Given the description of an element on the screen output the (x, y) to click on. 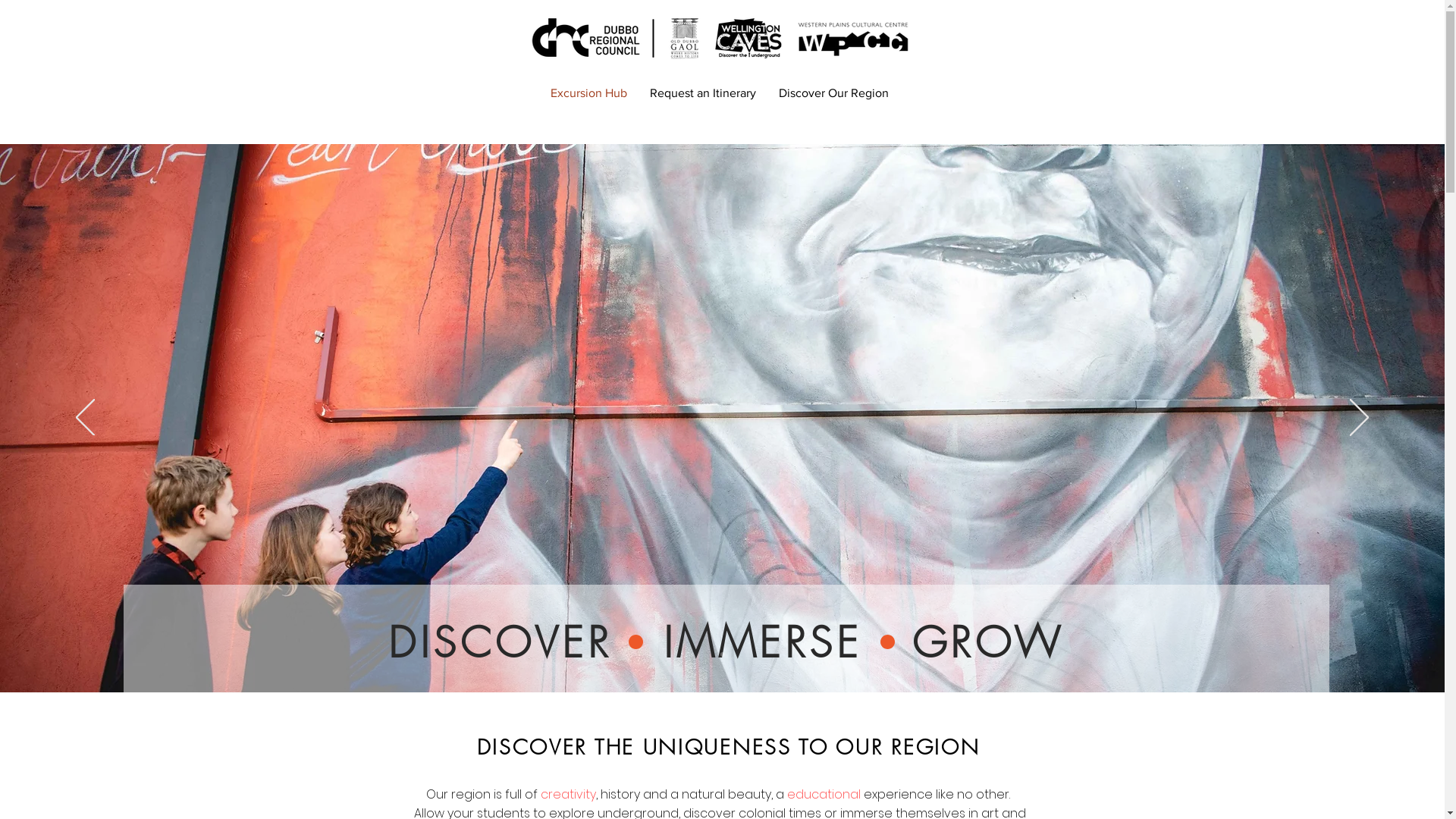
Discover Our Region Element type: text (833, 92)
Excursion Hub Element type: text (587, 92)
Request an Itinerary Element type: text (702, 92)
